Given the description of an element on the screen output the (x, y) to click on. 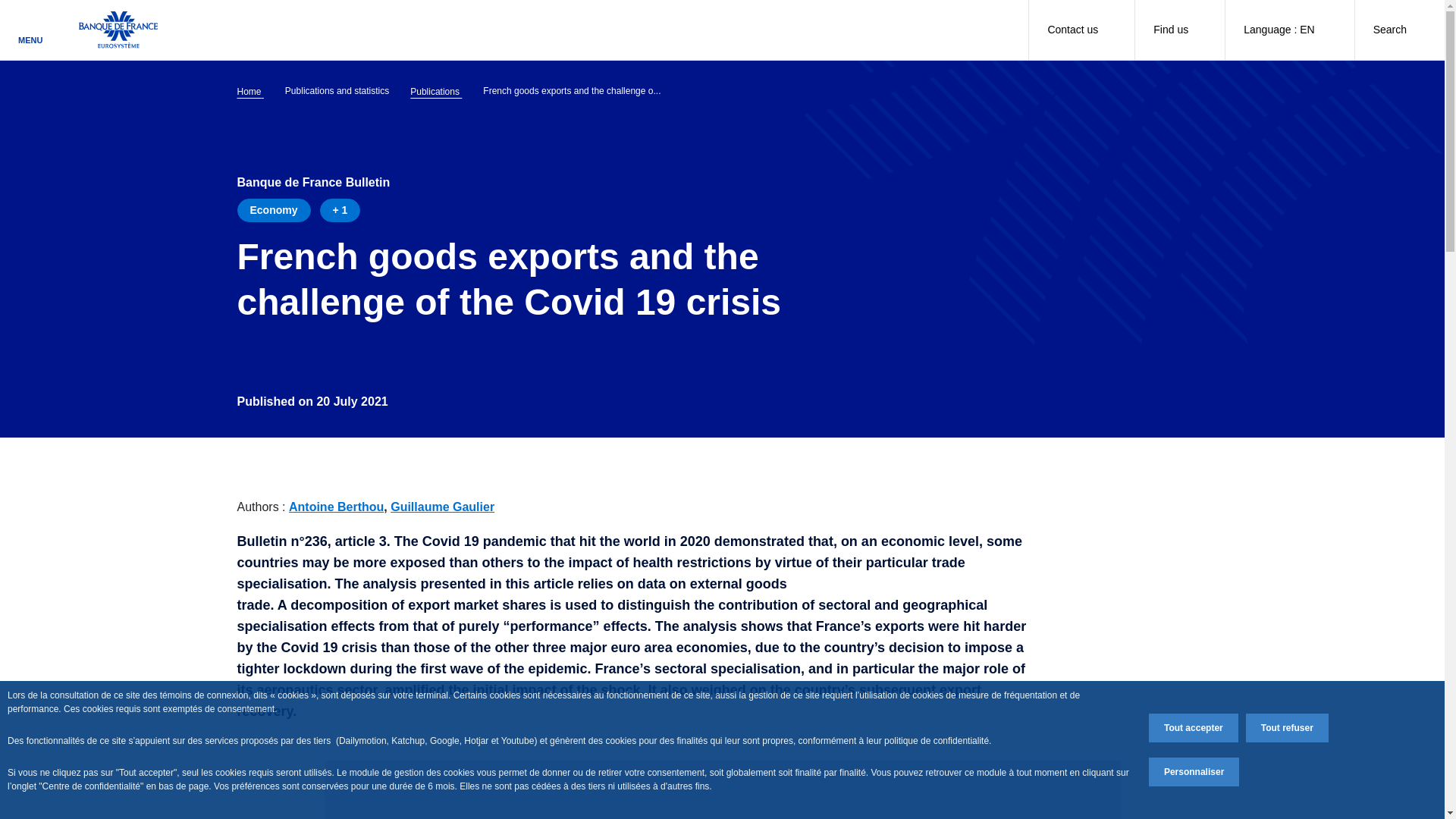
Tout accepter (1193, 727)
Personnaliser (1193, 771)
Menu toggler icon (30, 23)
Go to content Economy (272, 210)
Tout refuser (1286, 727)
